Given the description of an element on the screen output the (x, y) to click on. 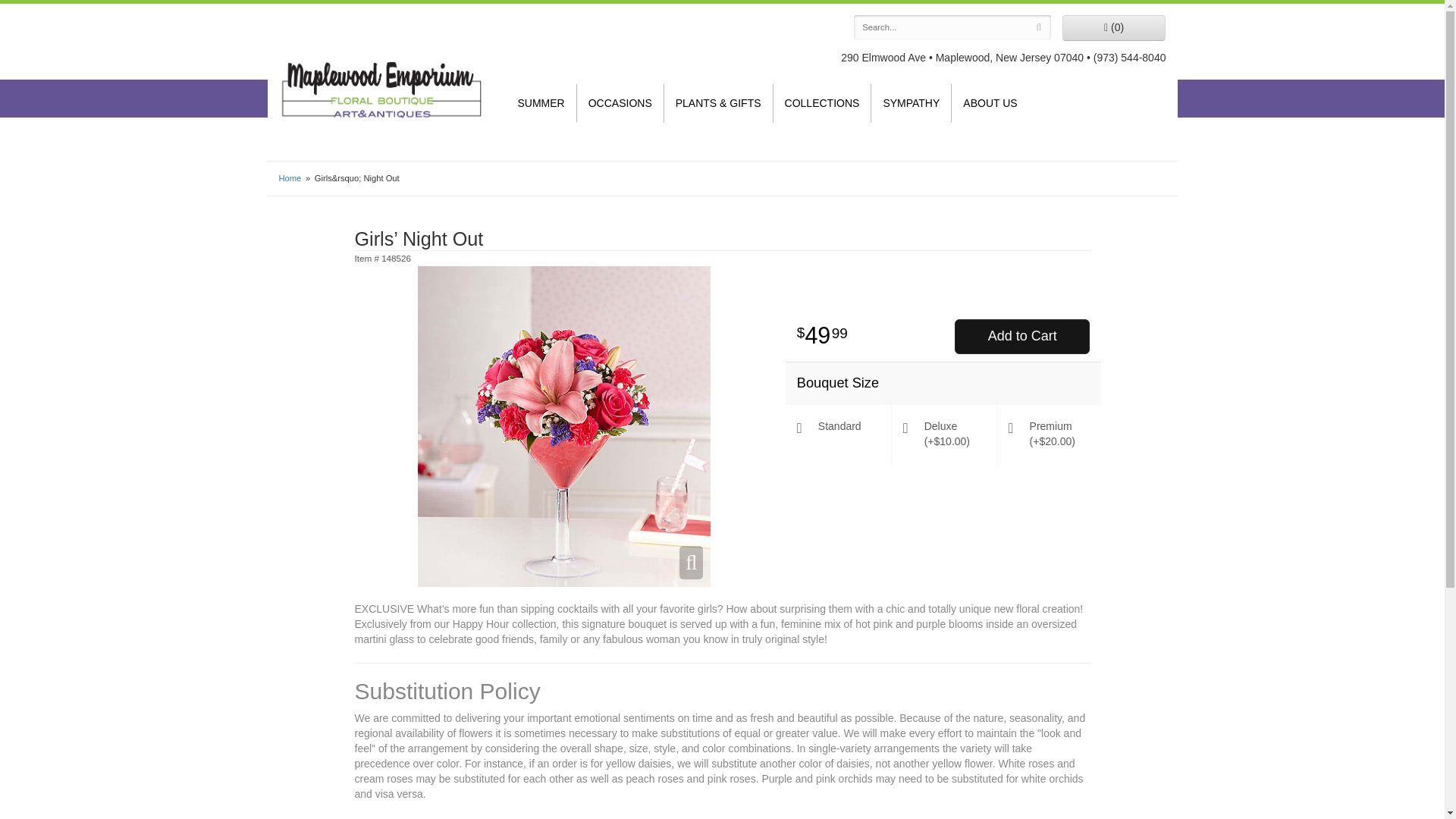
COLLECTIONS (821, 103)
OCCASIONS (619, 103)
SUMMER (541, 103)
SYMPATHY (910, 103)
ABOUT US (989, 103)
